Given the description of an element on the screen output the (x, y) to click on. 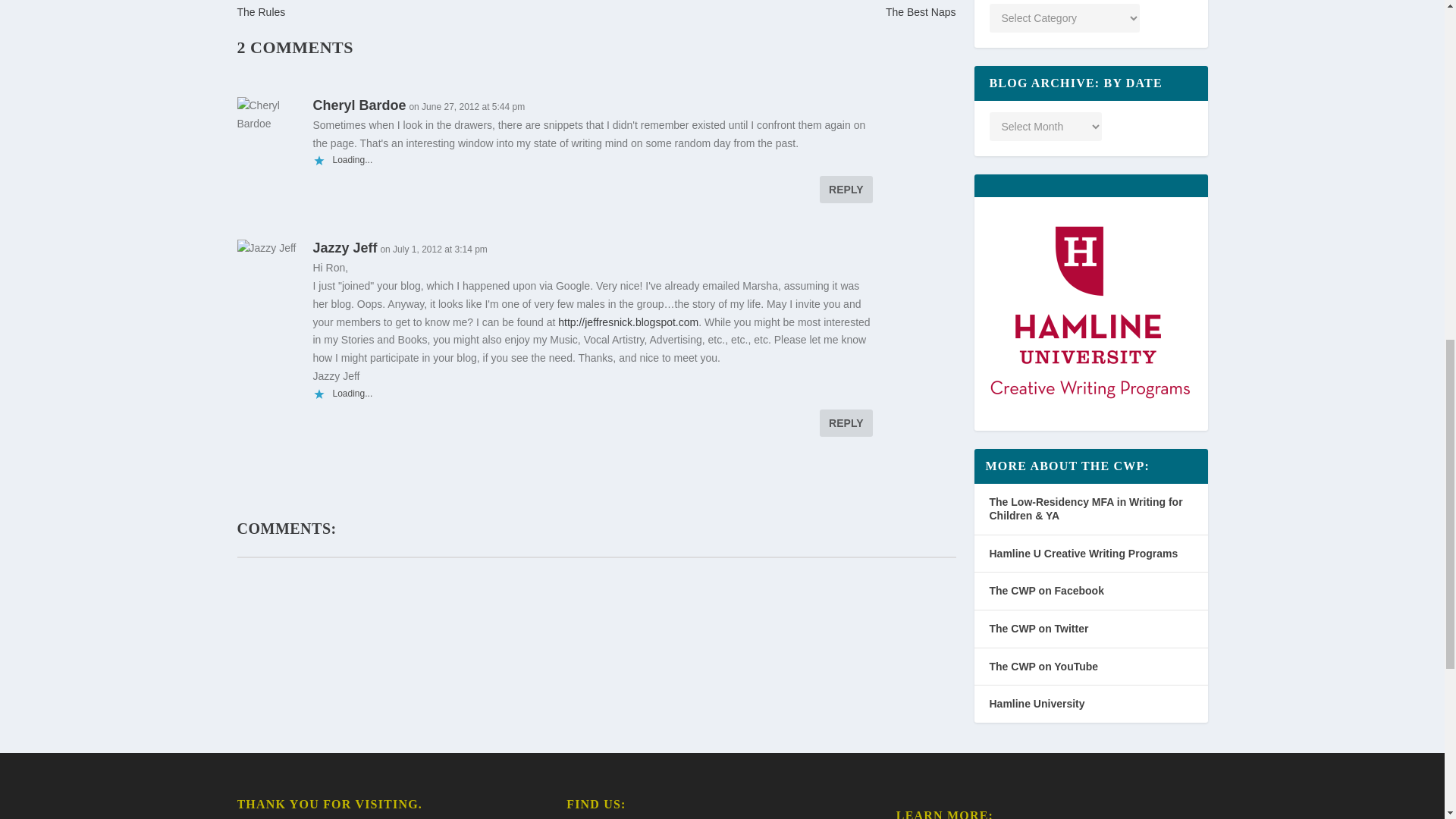
Cheryl Bardoe (359, 105)
REPLY (845, 189)
Jazzy Jeff (345, 247)
REPLY (845, 422)
